Given the description of an element on the screen output the (x, y) to click on. 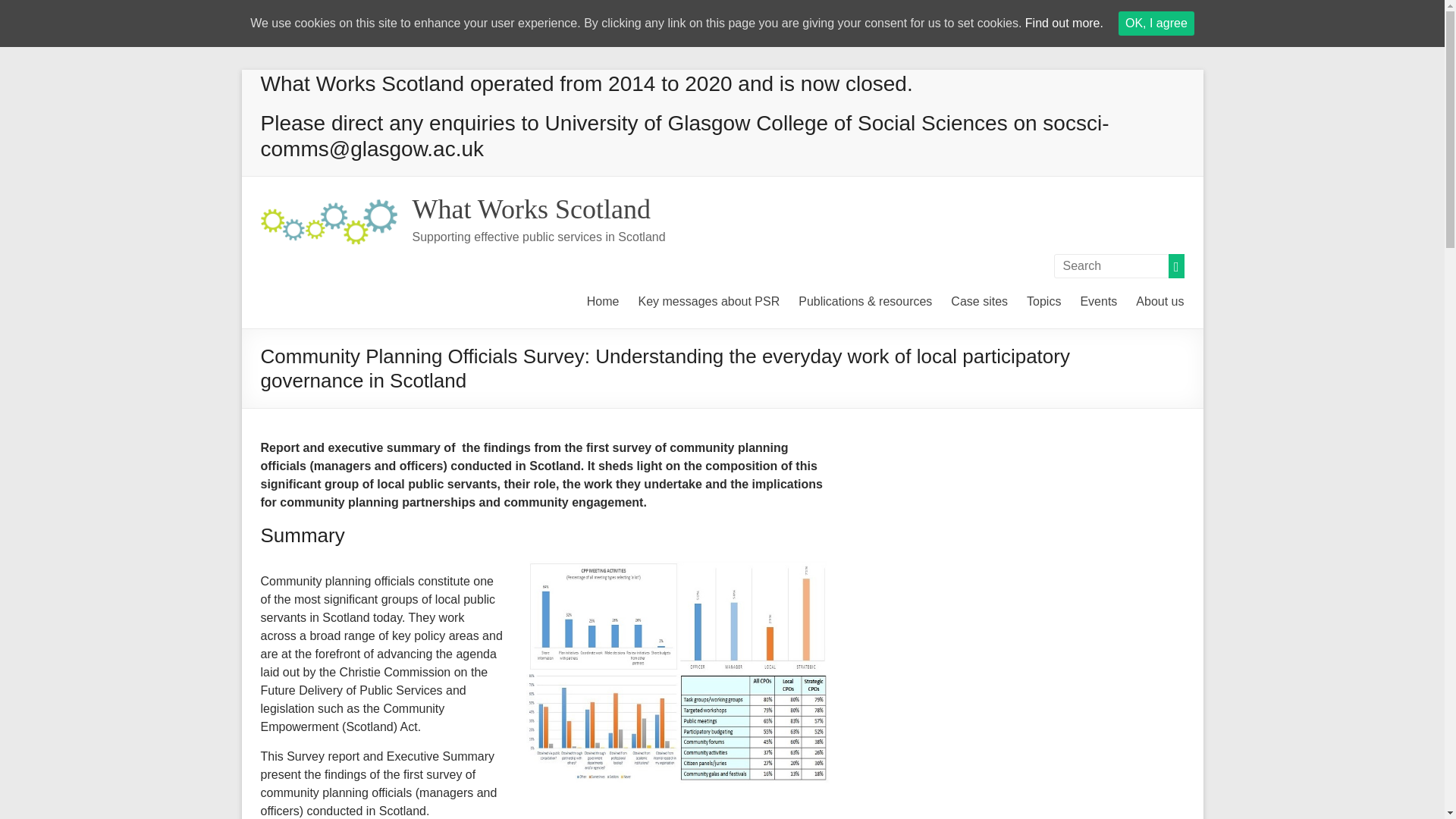
What Works Scotland (531, 209)
Home (603, 298)
Topics (1043, 298)
Case sites (978, 298)
What Works Scotland (328, 205)
Key messages about PSR (709, 298)
What Works Scotland (531, 209)
About us (1159, 298)
Events (1098, 298)
